Given the description of an element on the screen output the (x, y) to click on. 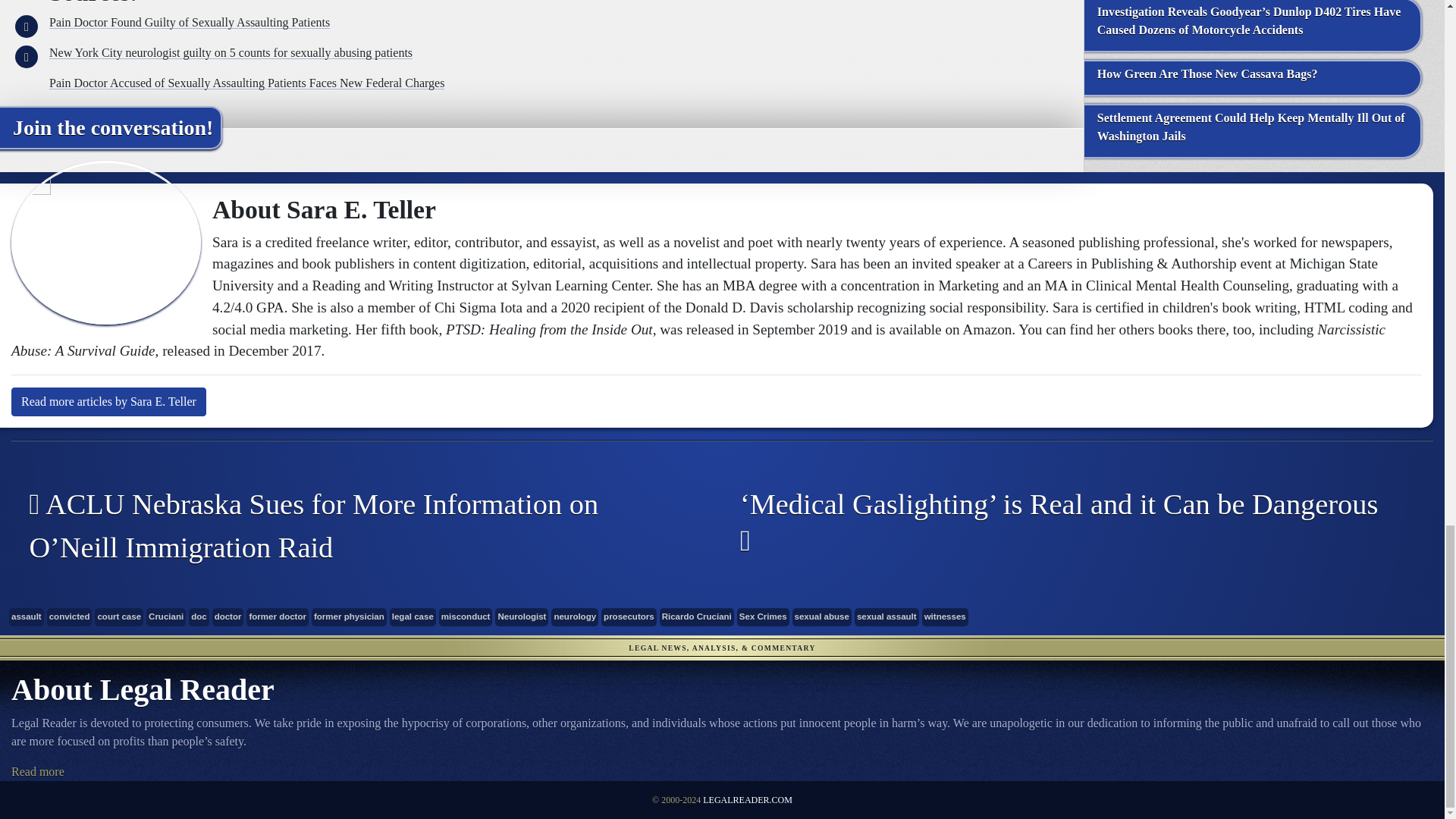
Read more articles by Sara E. Teller (108, 401)
Cruciani (166, 616)
assault (25, 616)
convicted (69, 616)
court case (118, 616)
Read more articles by Sara E. Teller (108, 401)
doc (198, 616)
Pain Doctor Found Guilty of Sexually Assaulting Patients (189, 21)
